Given the description of an element on the screen output the (x, y) to click on. 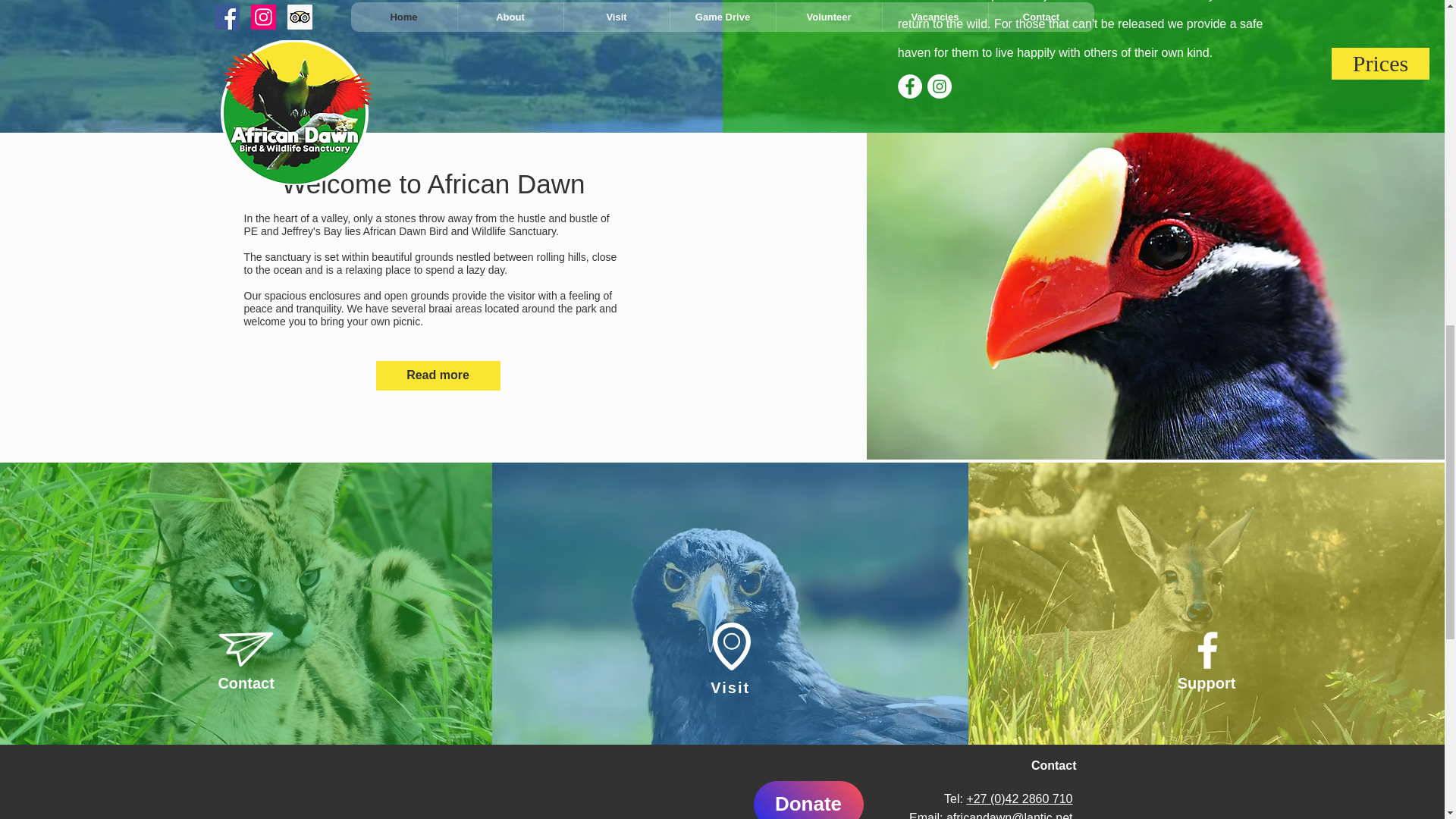
Read more (437, 375)
Contact (244, 682)
Support (1206, 682)
Visit (729, 687)
Donate (808, 800)
